Given the description of an element on the screen output the (x, y) to click on. 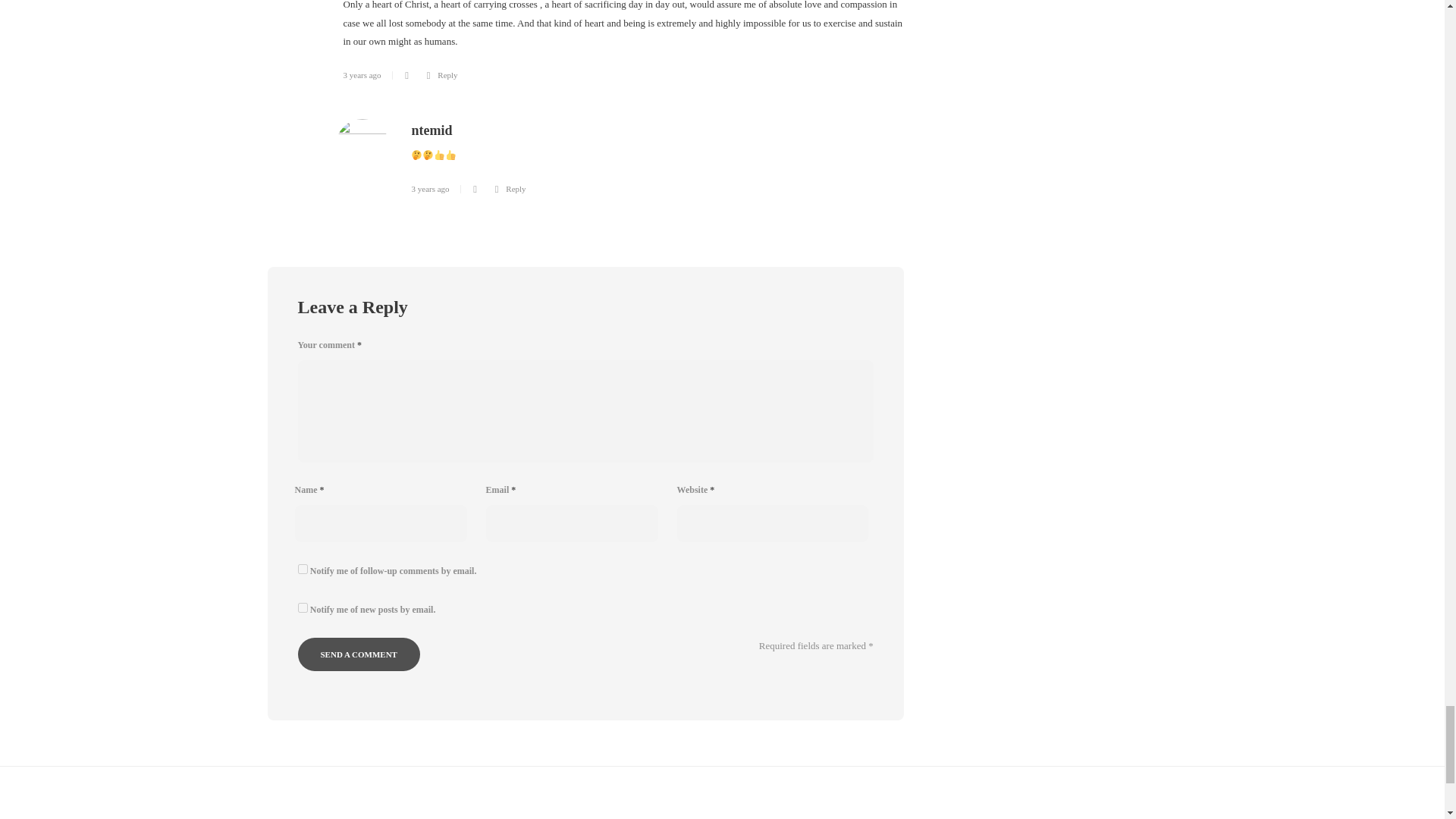
subscribe (302, 607)
subscribe (302, 569)
Send a comment (358, 654)
